Given the description of an element on the screen output the (x, y) to click on. 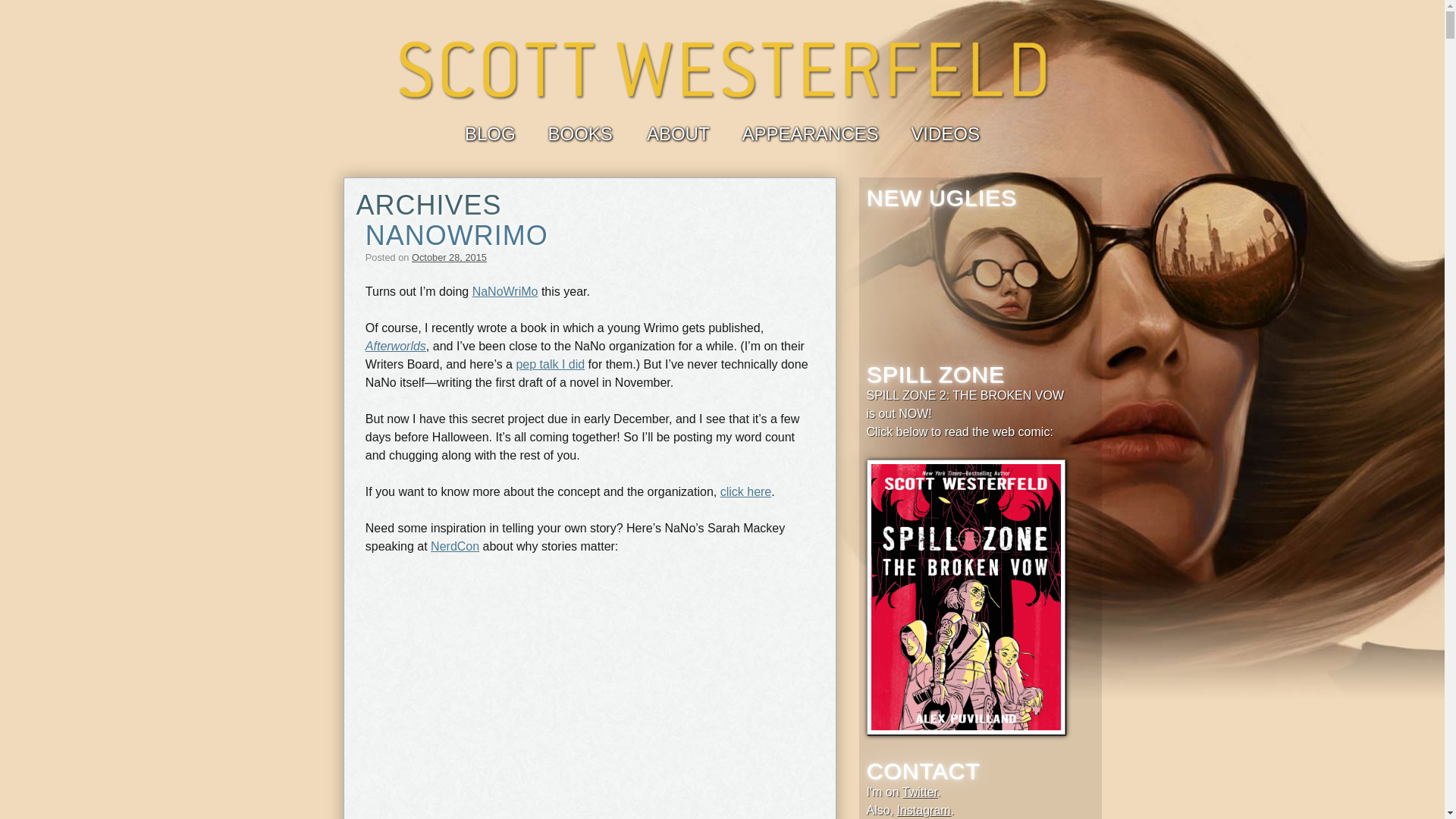
BLOG (489, 134)
click here (745, 491)
NANOWRIMO (456, 235)
NaNoWriMo (504, 291)
Afterworlds (395, 345)
BOOKS (579, 134)
APPEARANCES (809, 134)
October 28, 2015 (449, 256)
VIDEOS (945, 134)
